Given the description of an element on the screen output the (x, y) to click on. 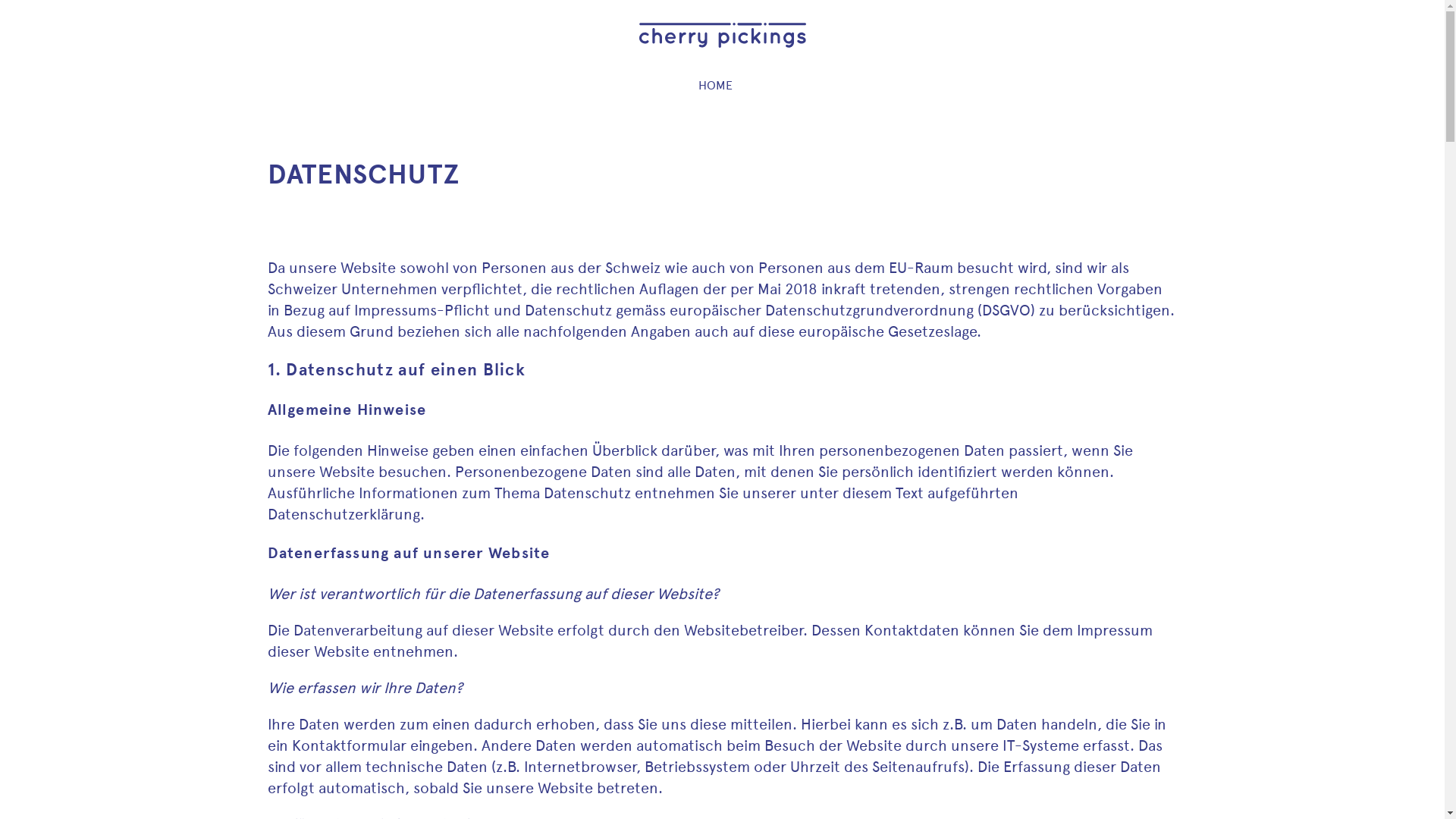
HOME Element type: text (715, 85)
